Given the description of an element on the screen output the (x, y) to click on. 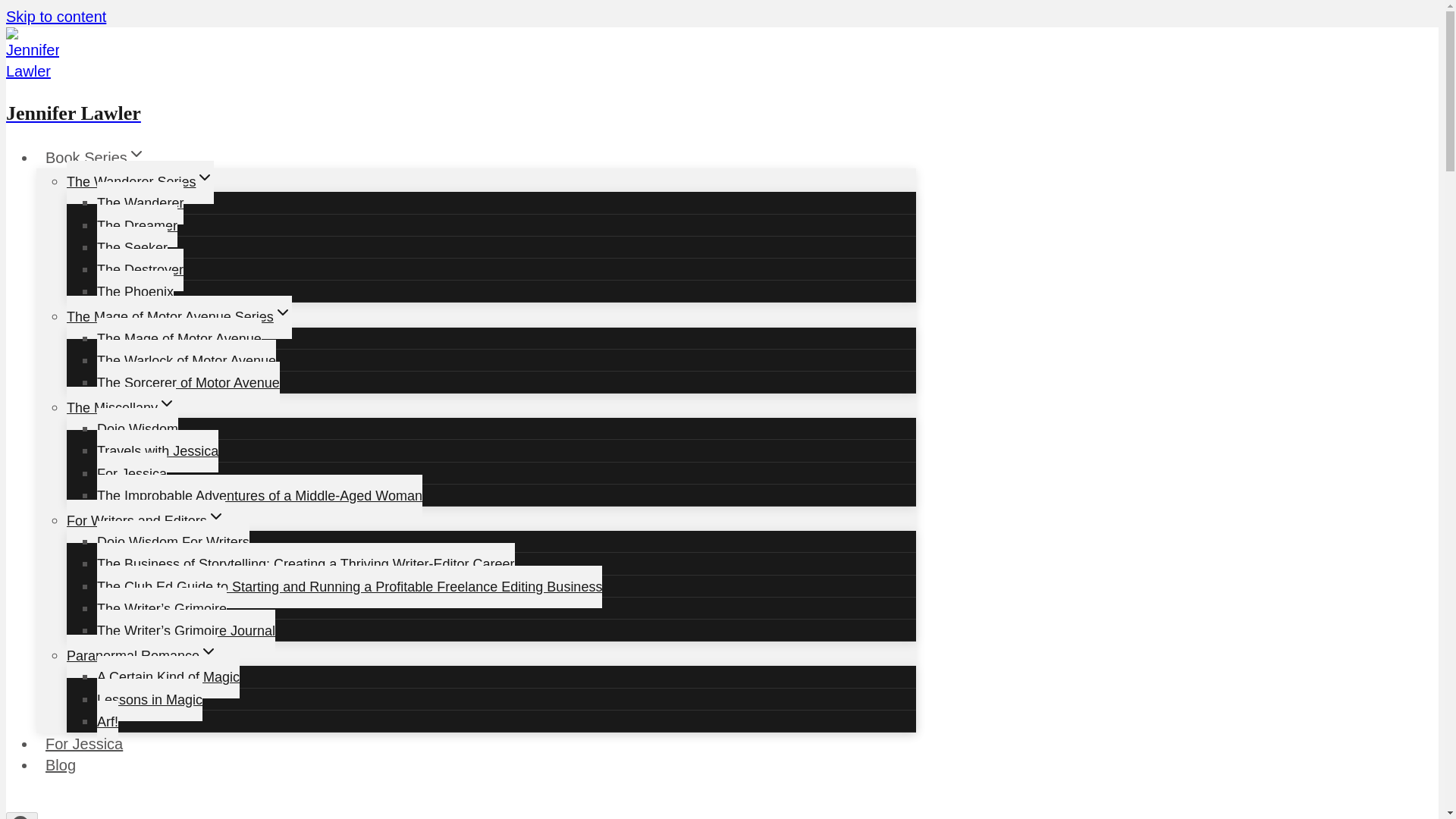
The Destroyer (140, 269)
Jennifer Lawler (460, 94)
Search (21, 815)
Expand (207, 651)
The MiscellanyExpand (121, 407)
Search (21, 816)
A Certain Kind of Magic (168, 677)
Travels with Jessica (157, 450)
The Dreamer (137, 225)
Lessons in Magic (149, 699)
The Mage of Motor Avenue (179, 337)
Expand (204, 177)
The Wanderer (140, 202)
The Phoenix (135, 291)
For Jessica (132, 473)
